Given the description of an element on the screen output the (x, y) to click on. 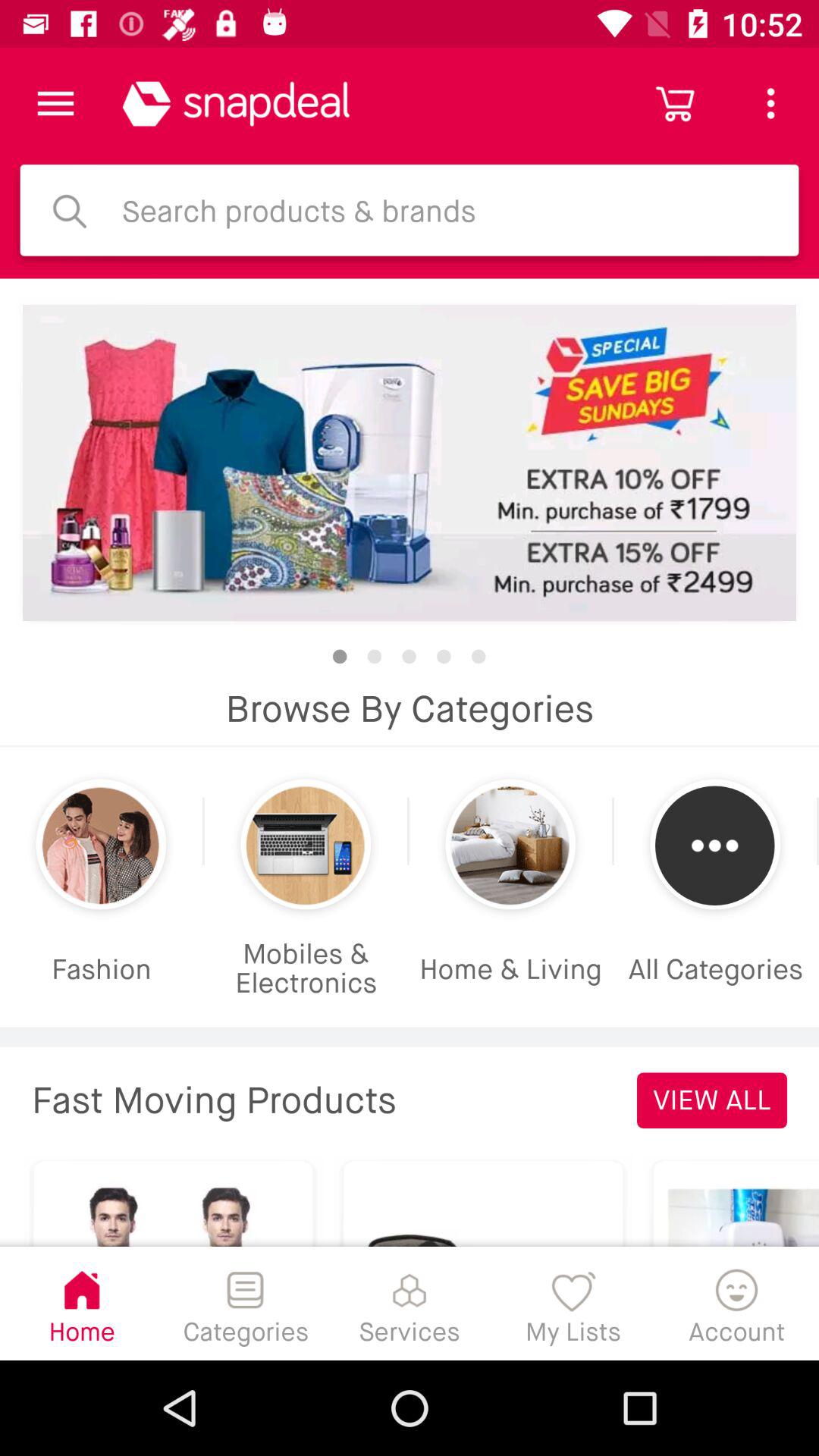
turn off the icon to the right of the services icon (573, 1303)
